Given the description of an element on the screen output the (x, y) to click on. 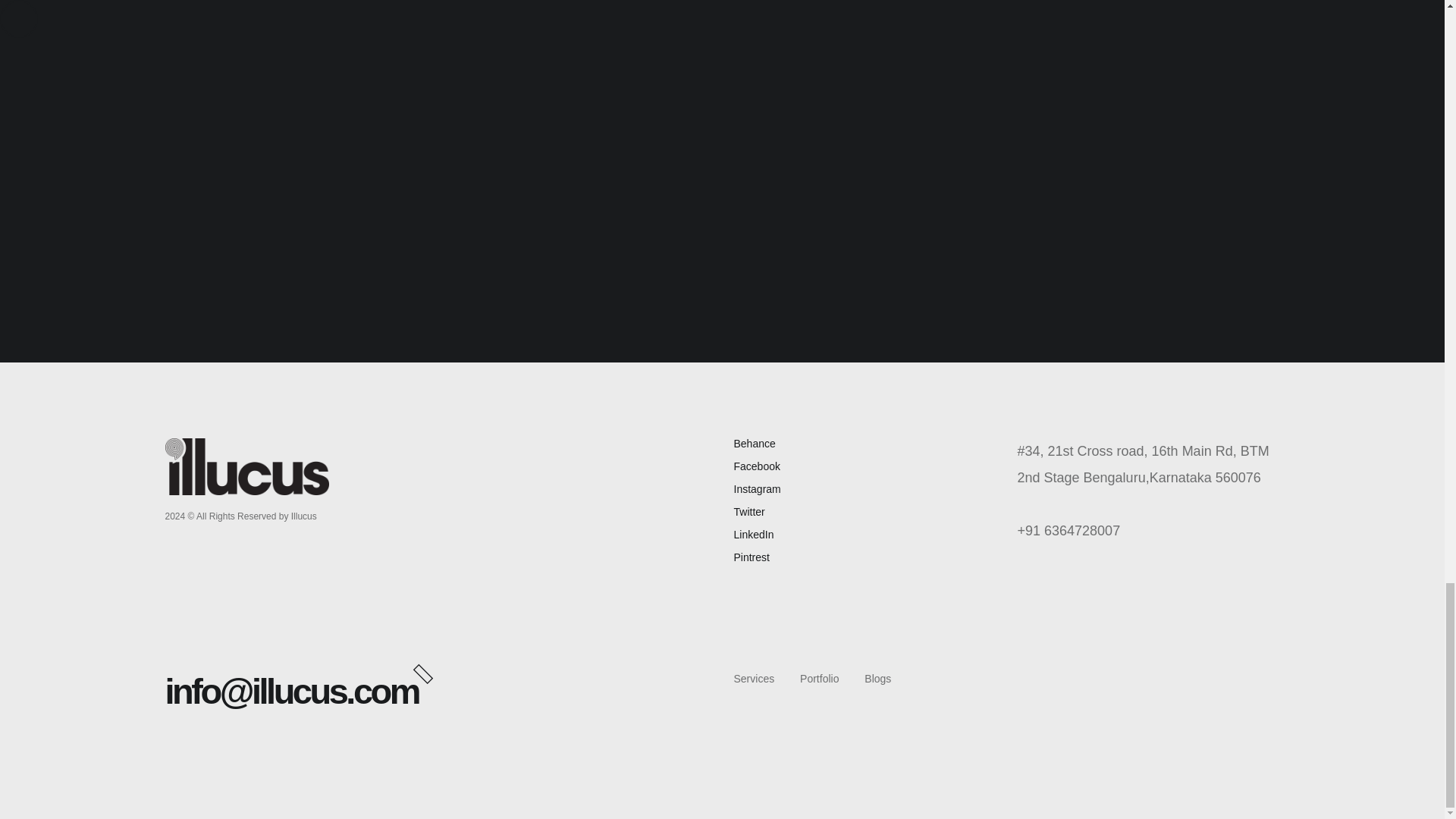
Instagram (756, 489)
Twitter (749, 511)
Facebook (756, 466)
Blogs (877, 678)
Behance (754, 443)
LinkedIn (753, 534)
Services (753, 678)
Portfolio (818, 678)
Pintrest (751, 557)
